Given the description of an element on the screen output the (x, y) to click on. 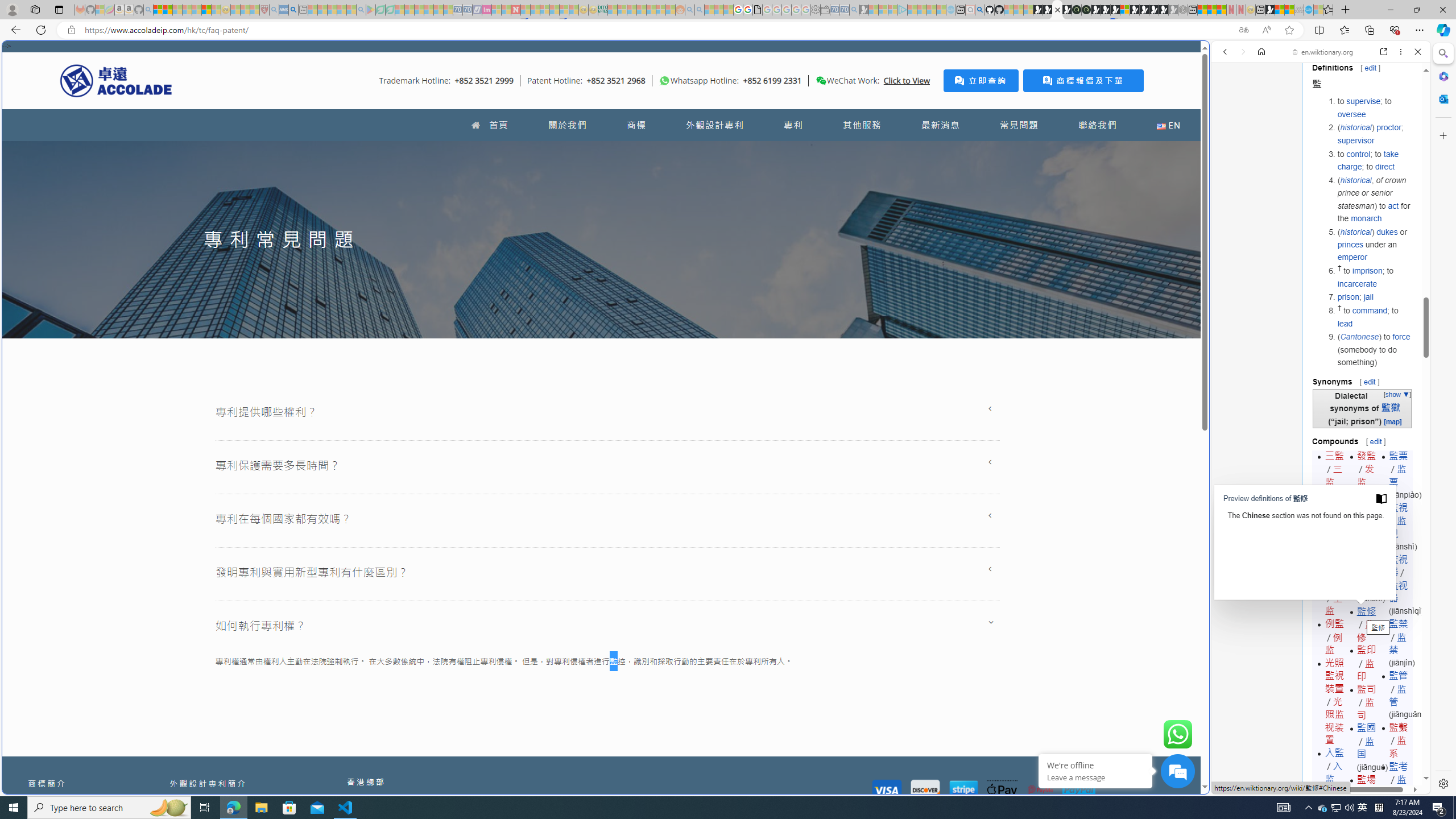
control (1358, 153)
IMAGES (1262, 130)
prison (1347, 297)
Cantonese (1358, 336)
The Weather Channel - MSN - Sleeping (177, 9)
SEARCH TOOLS (1350, 130)
